Given the description of an element on the screen output the (x, y) to click on. 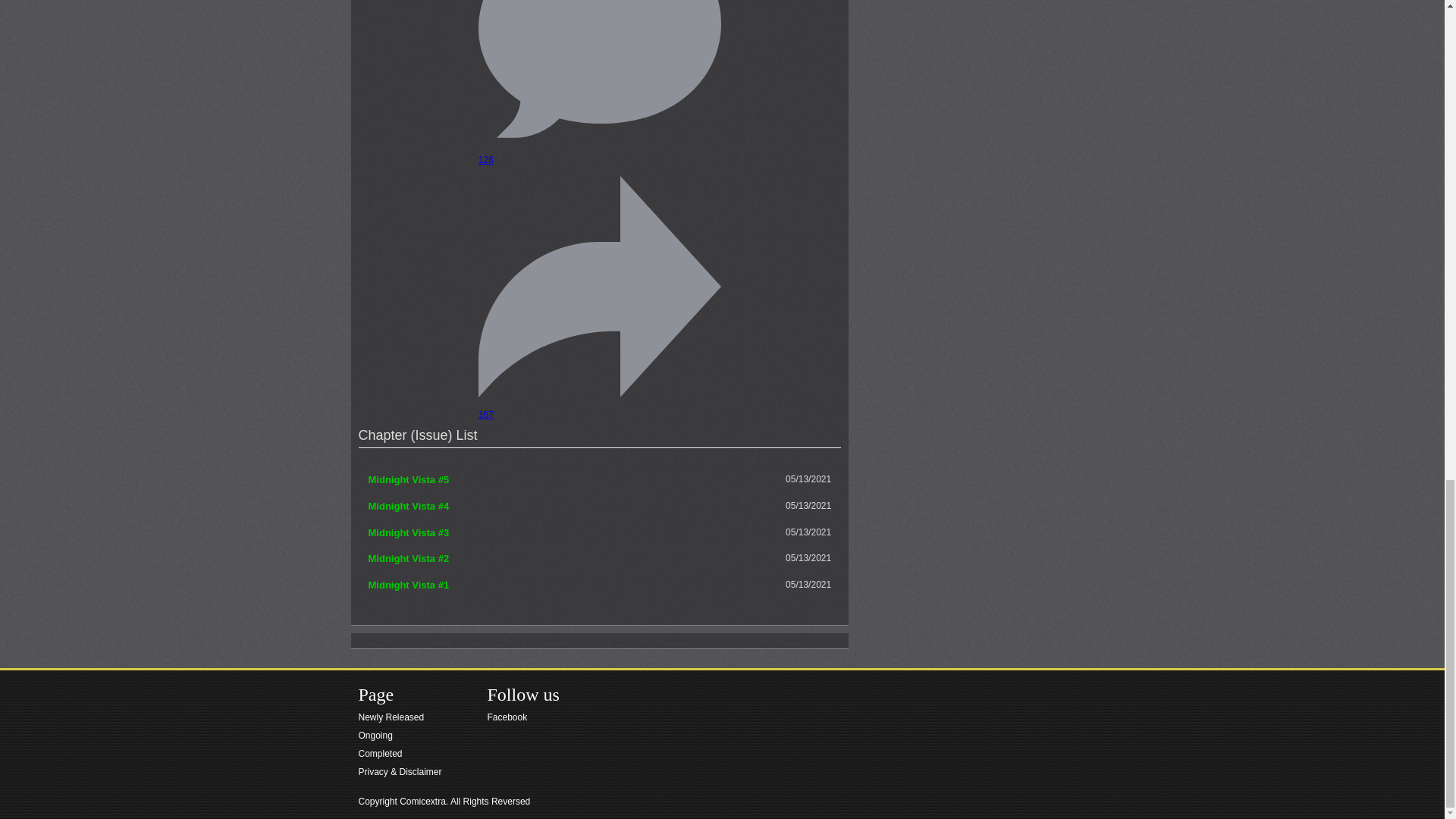
Newly Released (399, 717)
Ongoing (399, 735)
Facebook (523, 717)
Completed (399, 753)
